Given the description of an element on the screen output the (x, y) to click on. 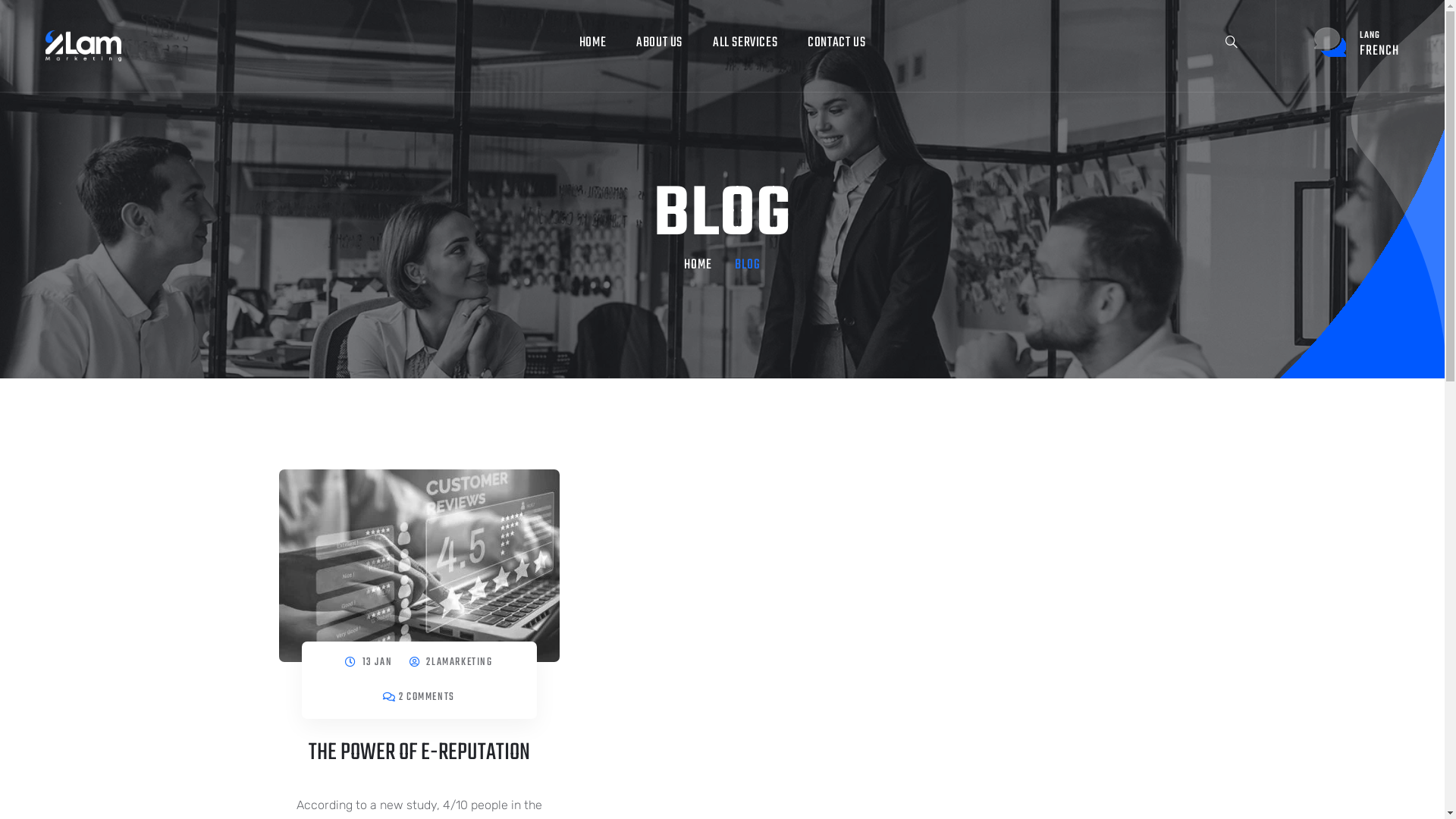
ABOUT US Element type: text (659, 42)
ALL SERVICES Element type: text (744, 42)
2 COMMENTS Element type: text (426, 697)
2LAMARKETING Element type: text (459, 662)
CONTACT US Element type: text (836, 42)
LANG
FRENCH Element type: text (1356, 42)
THE POWER OF E-REPUTATION Element type: text (418, 752)
HOME Element type: text (592, 42)
HOME Element type: text (698, 265)
